Given the description of an element on the screen output the (x, y) to click on. 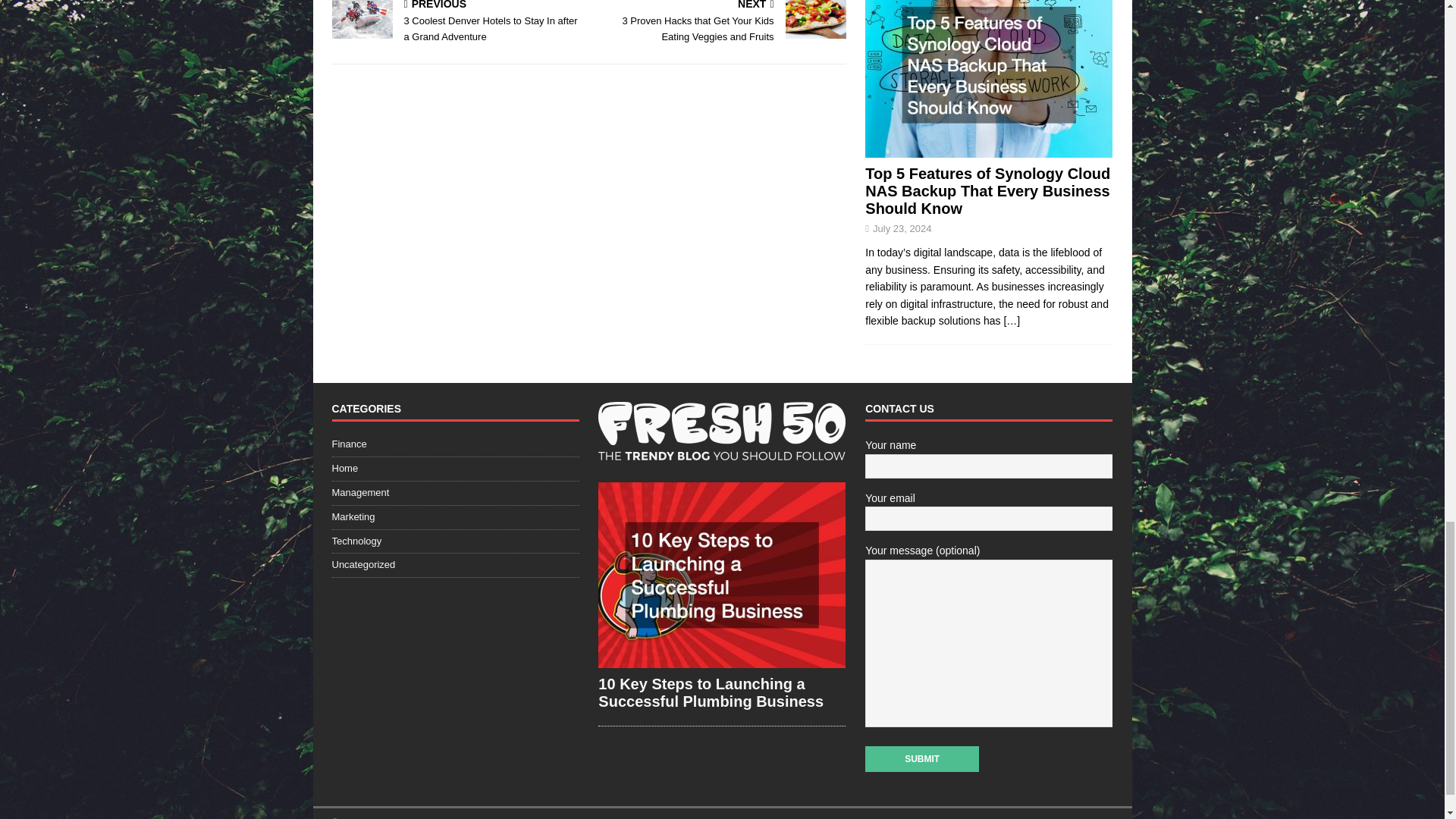
Submit (921, 759)
